Given the description of an element on the screen output the (x, y) to click on. 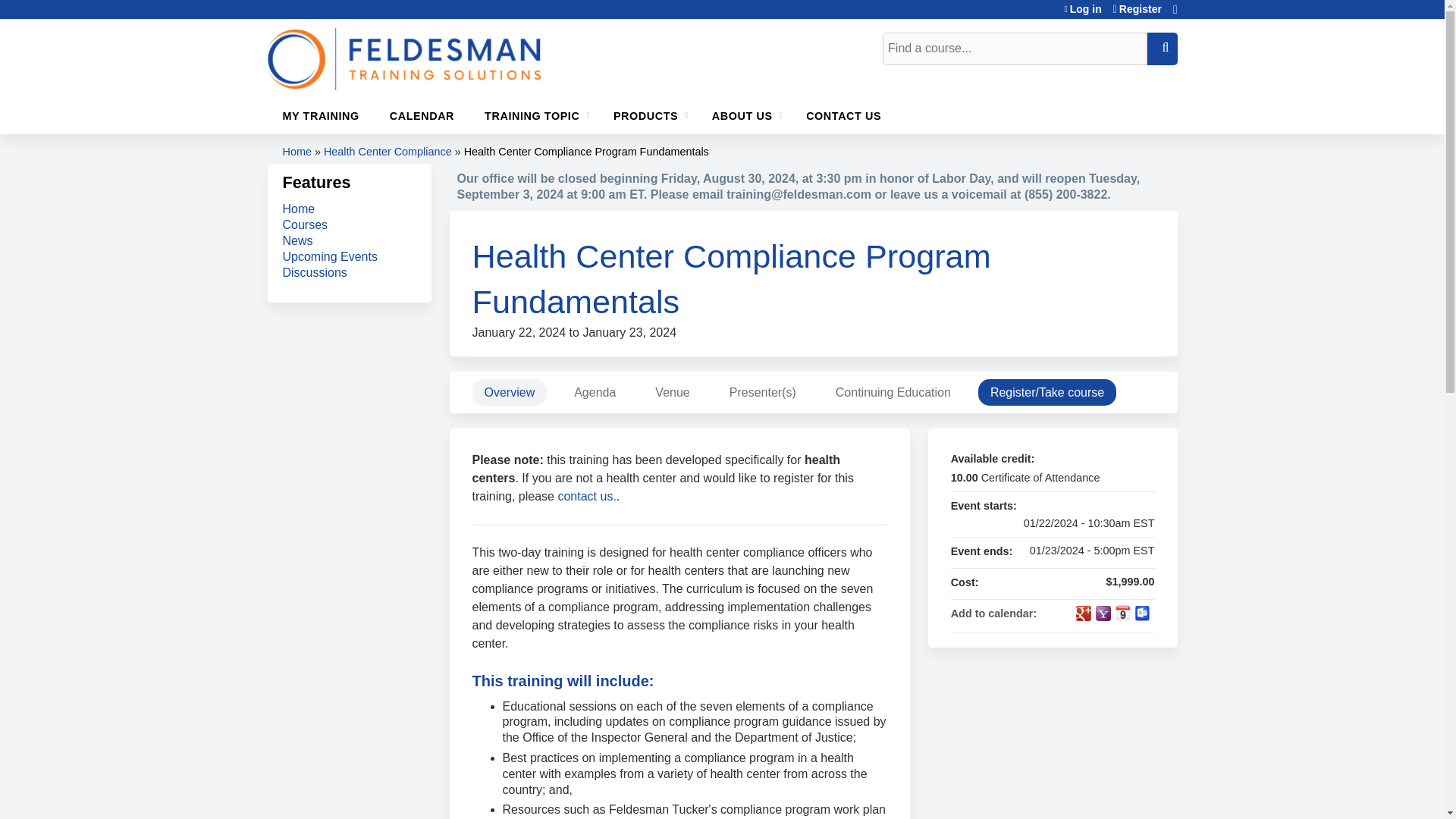
Home (403, 58)
Search (1161, 48)
Google calendar (1082, 613)
Search (1161, 48)
Yahoo calendar (1101, 613)
